Given the description of an element on the screen output the (x, y) to click on. 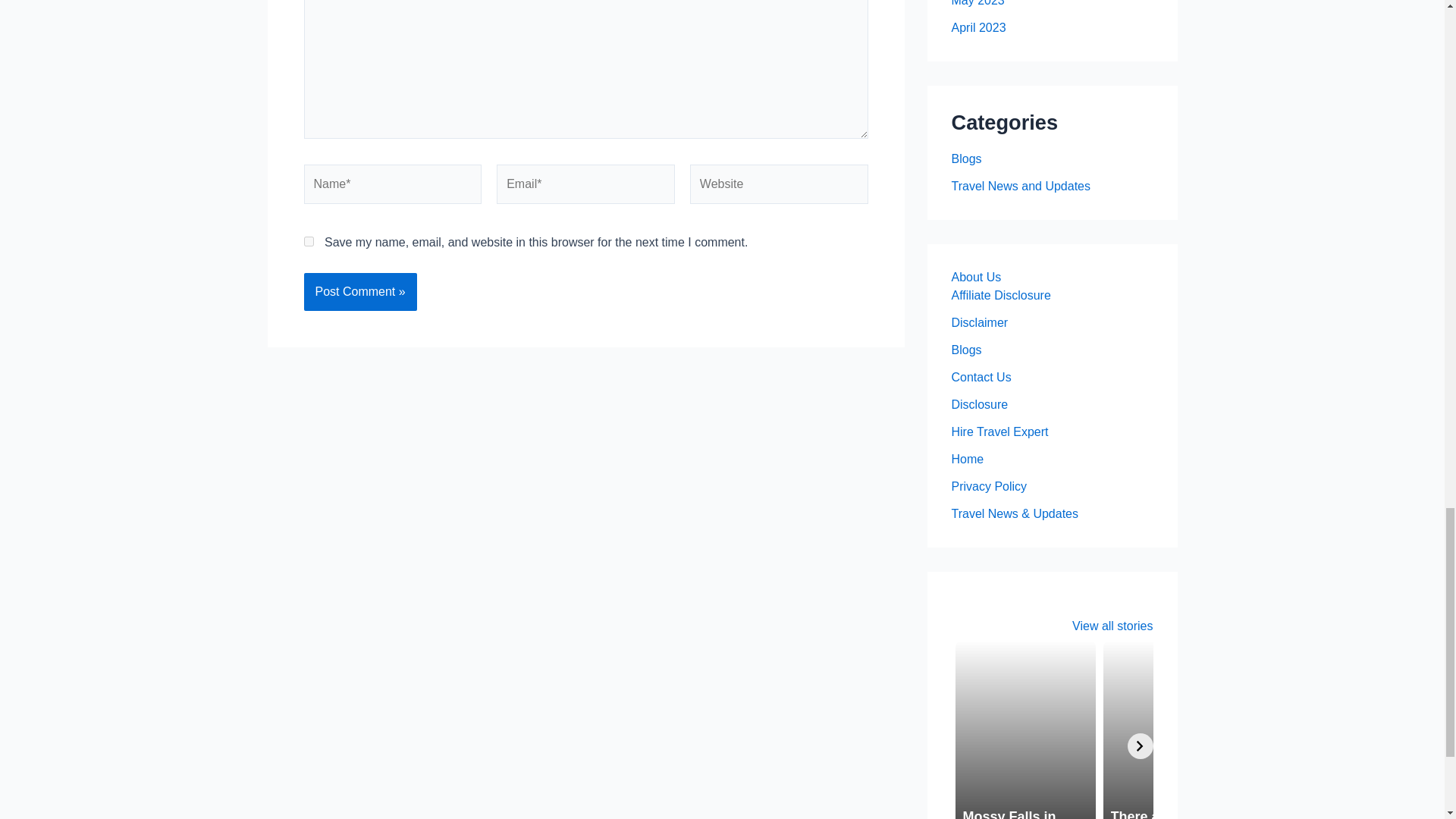
yes (307, 241)
